Given the description of an element on the screen output the (x, y) to click on. 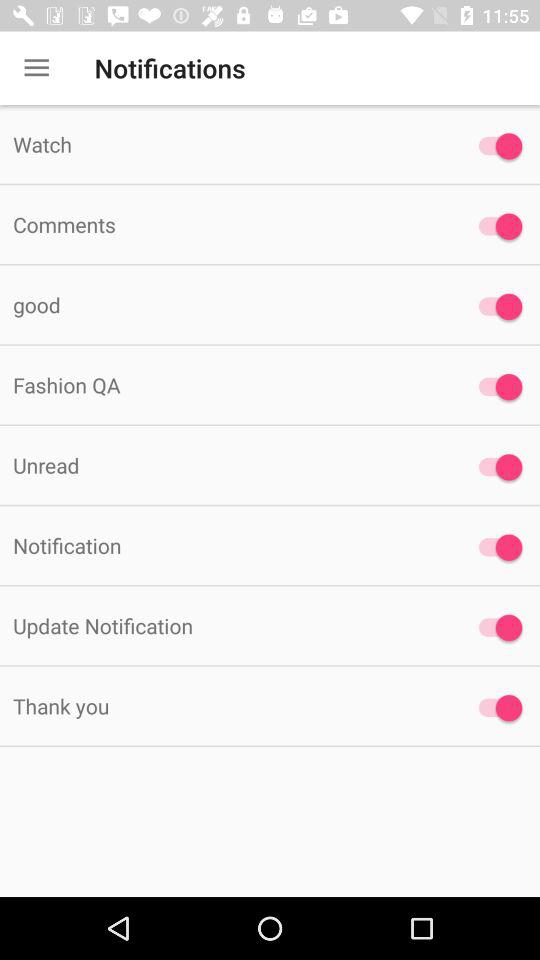
turn on/off notification (495, 708)
